Given the description of an element on the screen output the (x, y) to click on. 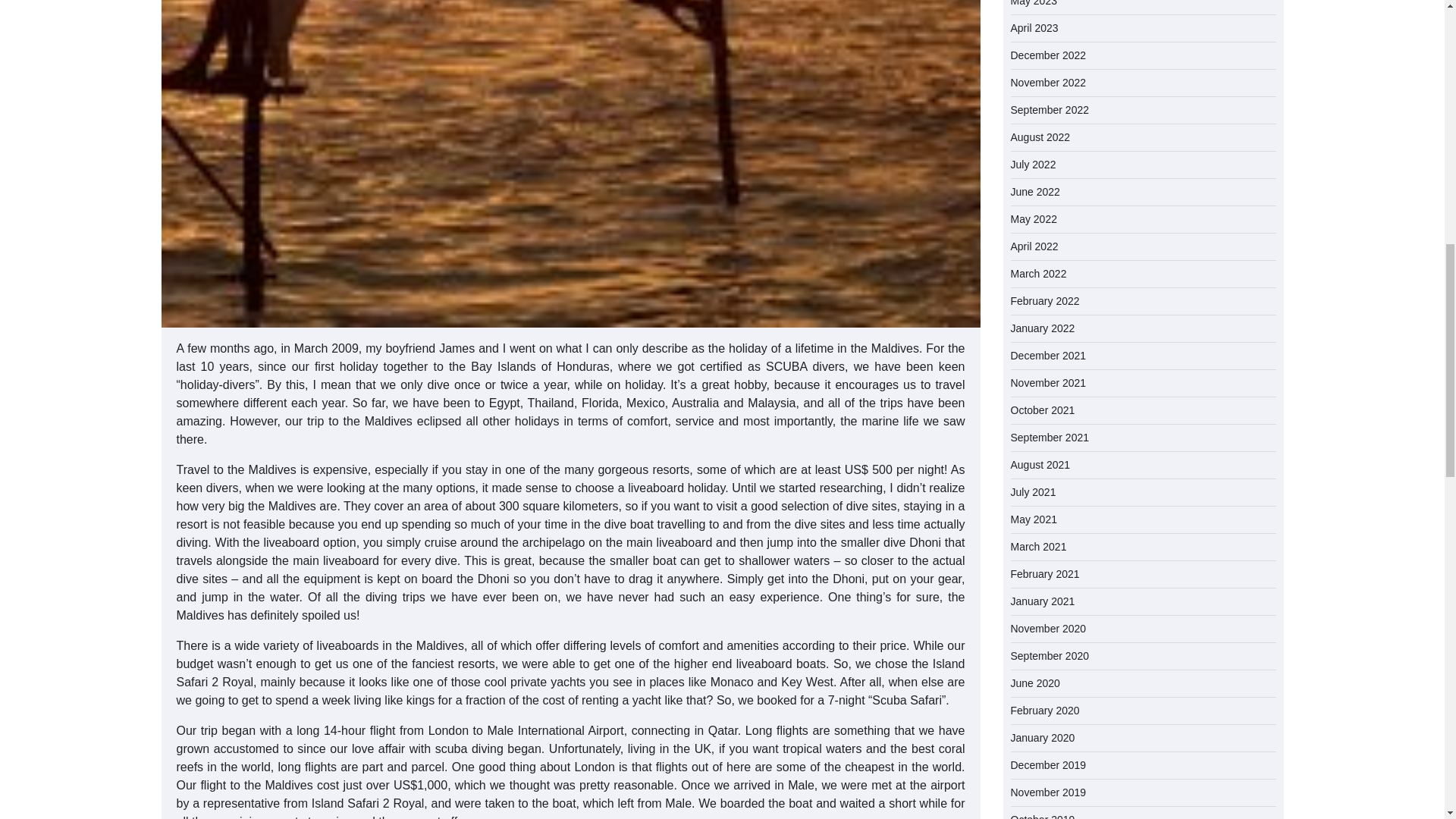
December 2022 (1048, 55)
April 2023 (1034, 28)
November 2022 (1048, 82)
May 2023 (1033, 3)
